Given the description of an element on the screen output the (x, y) to click on. 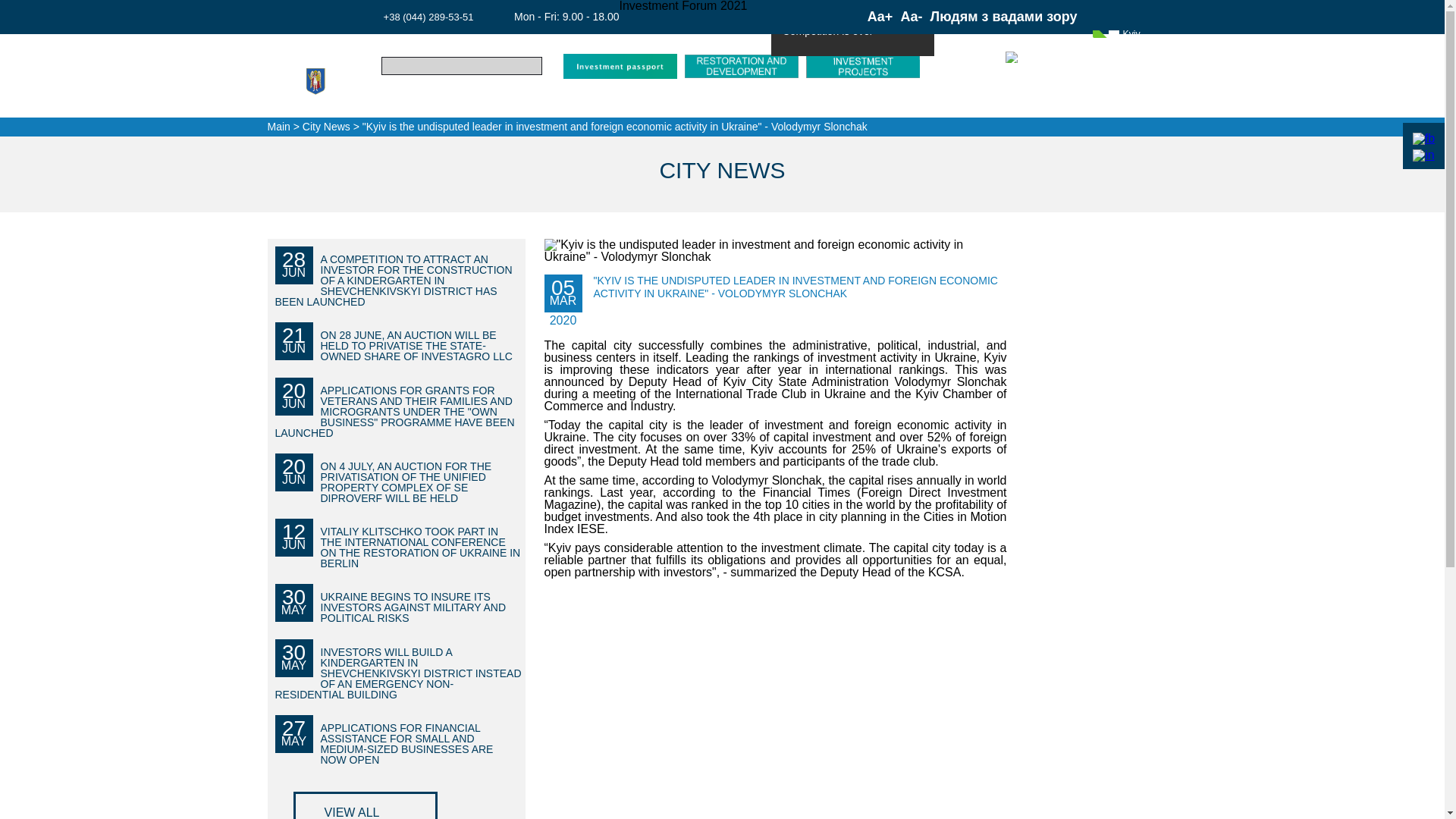
WHY KYIV? (409, 100)
FOREIGN TRADE (683, 100)
SUCCESS STORIES (817, 100)
Investment Forum 2016 (852, 12)
CITY PROJECTS (598, 100)
NEWS (747, 100)
City Projects (598, 100)
News (747, 100)
Success stories (817, 100)
EN (1019, 62)
BECOME AN INVESTOR (498, 100)
Competition is over (852, 40)
AGENCY (891, 100)
Why Kyiv? (409, 100)
Foreign trade (683, 100)
